Given the description of an element on the screen output the (x, y) to click on. 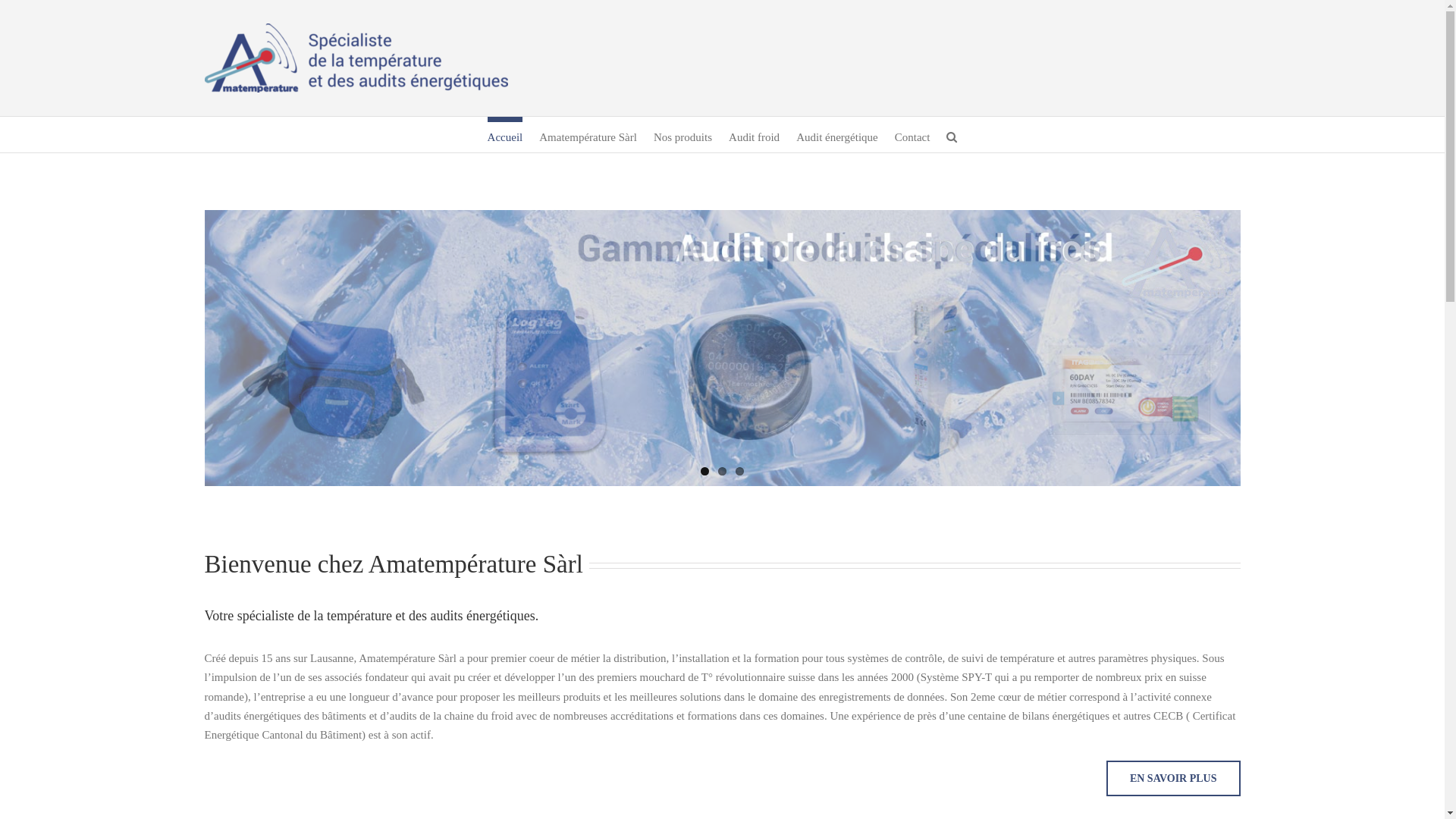
1 Element type: text (704, 471)
Audit froid Element type: text (753, 134)
Accueil Element type: text (505, 134)
3 Element type: text (739, 471)
Nos produits Element type: text (682, 134)
2 Element type: text (722, 471)
Contact Element type: text (912, 134)
EN SAVOIR PLUS Element type: text (1173, 778)
